Given the description of an element on the screen output the (x, y) to click on. 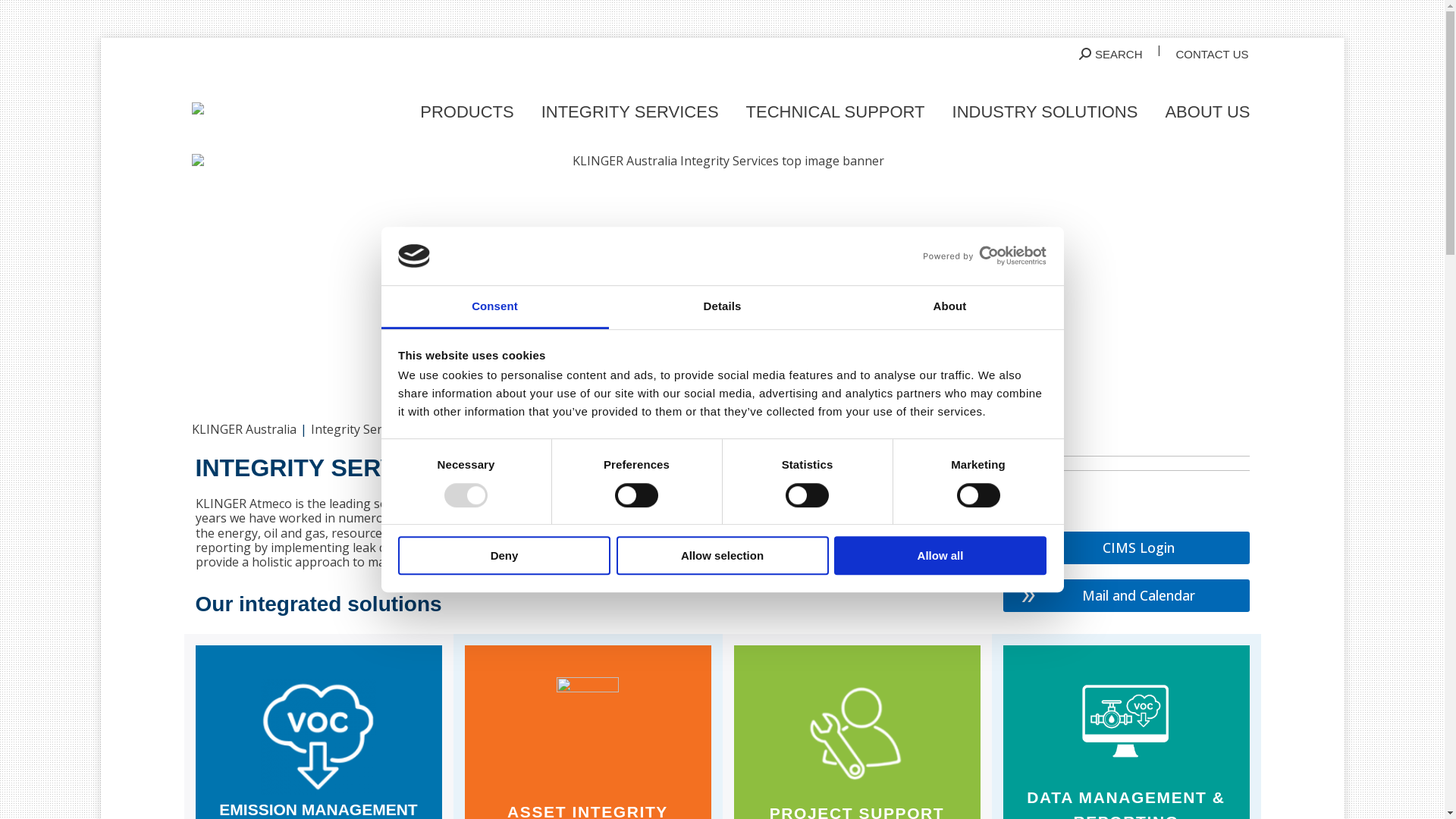
CIMS Login Element type: text (1125, 547)
INTEGRITY SERVICES Element type: text (629, 108)
Deny Element type: text (504, 555)
About Element type: text (949, 307)
PRODUCTS Element type: text (466, 108)
Allow all Element type: text (940, 555)
Consent Element type: text (494, 307)
INDUSTRY SOLUTIONS Element type: text (1045, 108)
CONTACT US Element type: text (1211, 54)
Mail and Calendar Element type: text (1125, 595)
Emissions-3 Element type: hover (318, 737)
KLINGER Australia Element type: text (243, 429)
Allow selection Element type: text (721, 555)
ABOUT US Element type: text (1206, 108)
SEARCH Element type: text (1110, 54)
Details Element type: text (721, 307)
TECHNICAL SUPPORT Element type: text (835, 108)
Go! Element type: text (23, 16)
